Given the description of an element on the screen output the (x, y) to click on. 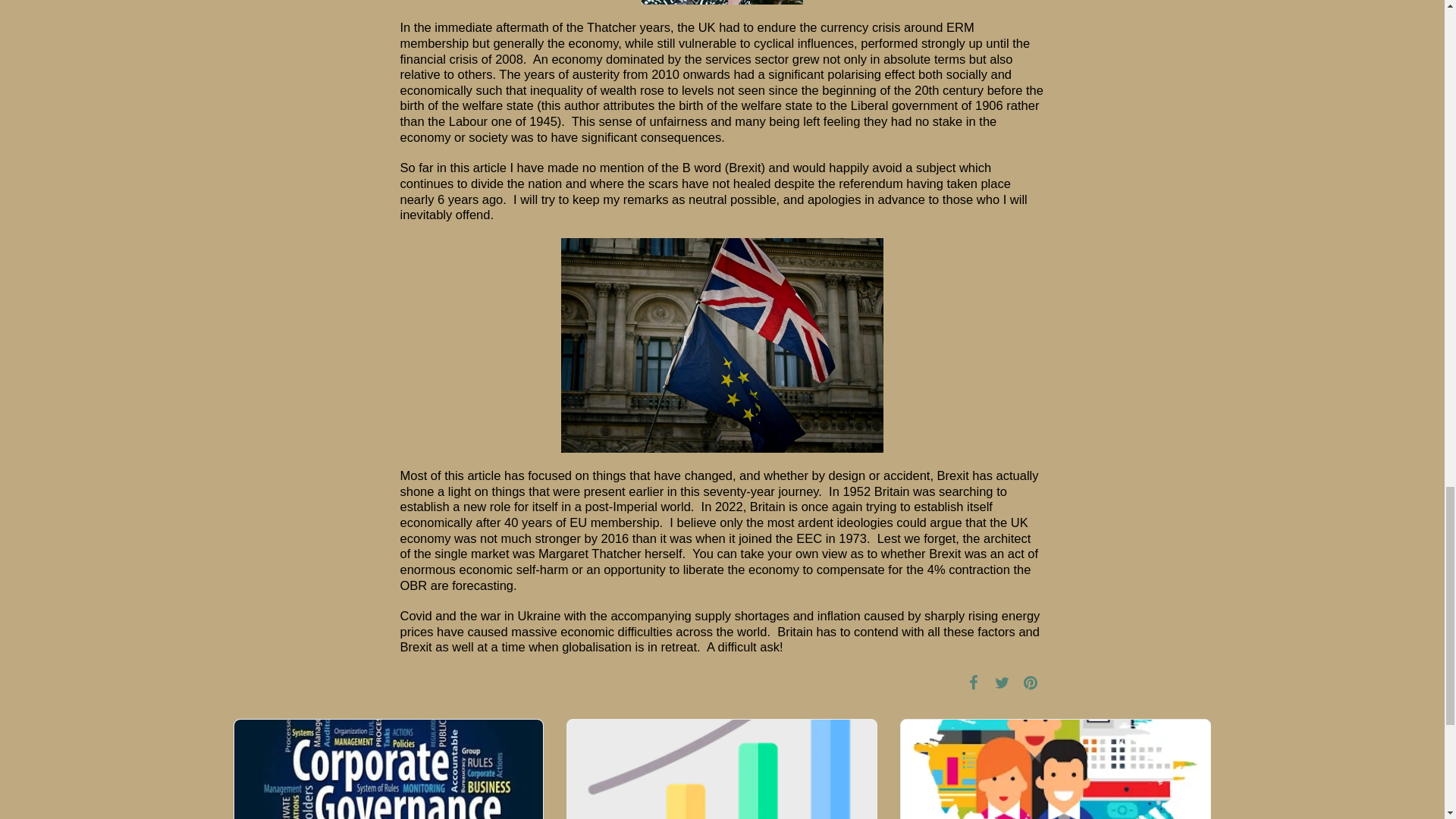
Tweet (1002, 681)
Share on Facebook (973, 681)
Pin it (1029, 681)
